Given the description of an element on the screen output the (x, y) to click on. 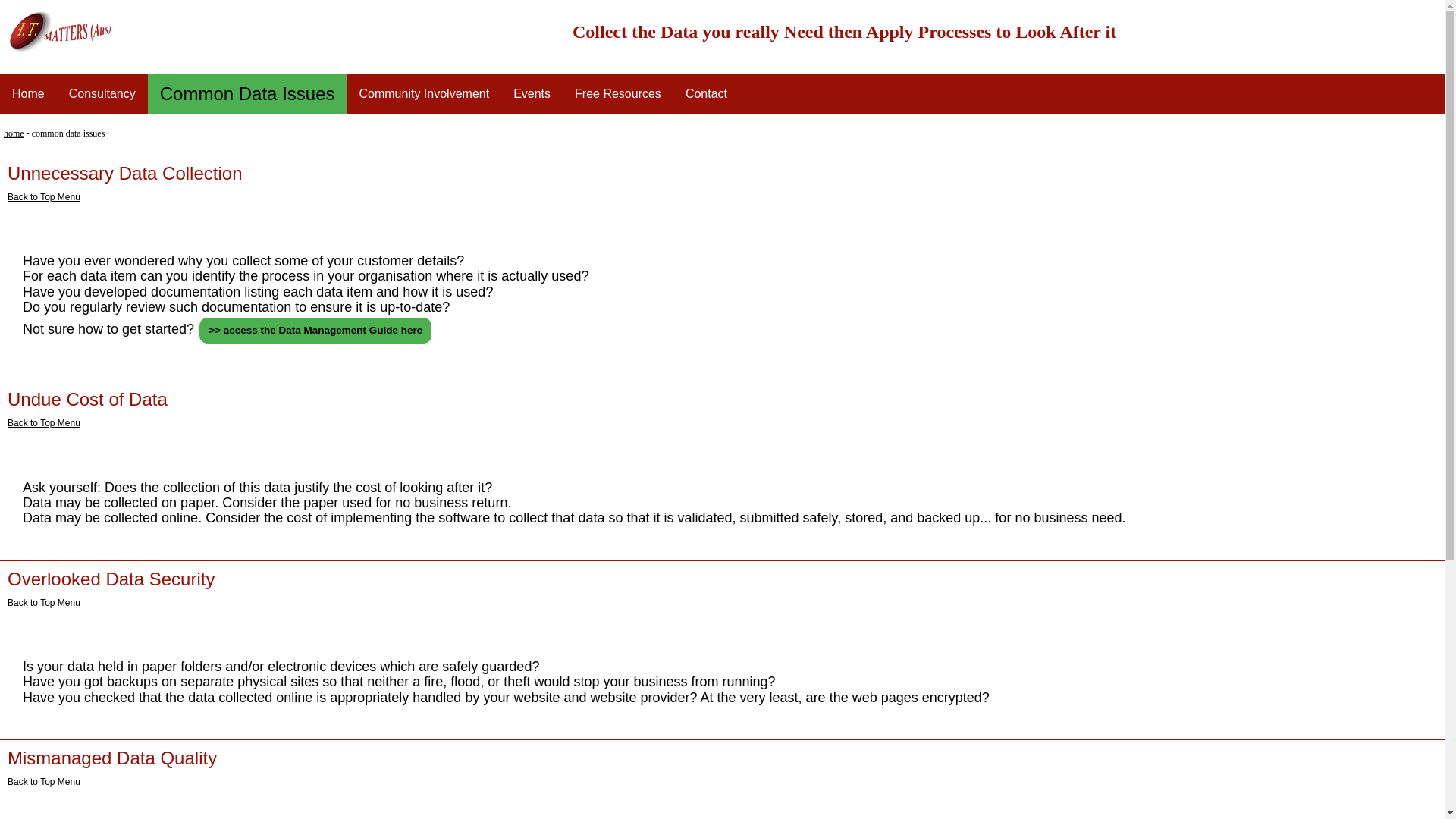
Free Resources Element type: text (617, 93)
Overlooked Data Security Element type: text (110, 578)
Mismanaged Data Quality Element type: text (111, 757)
Events Element type: text (531, 93)
Back to Top Menu Element type: text (43, 422)
Community Involvement Element type: text (424, 93)
Home Element type: text (28, 93)
Unnecessary Data Collection Element type: text (124, 172)
Undue Cost of Data Element type: text (87, 399)
Contact Element type: text (706, 93)
Common Data Issues Element type: text (247, 93)
Back to Top Menu Element type: text (43, 602)
>> access the Data Management Guide here Element type: text (315, 330)
Back to Top Menu Element type: text (43, 196)
Back to Top Menu Element type: text (43, 781)
Consultancy Element type: text (101, 93)
home Element type: text (13, 133)
